Given the description of an element on the screen output the (x, y) to click on. 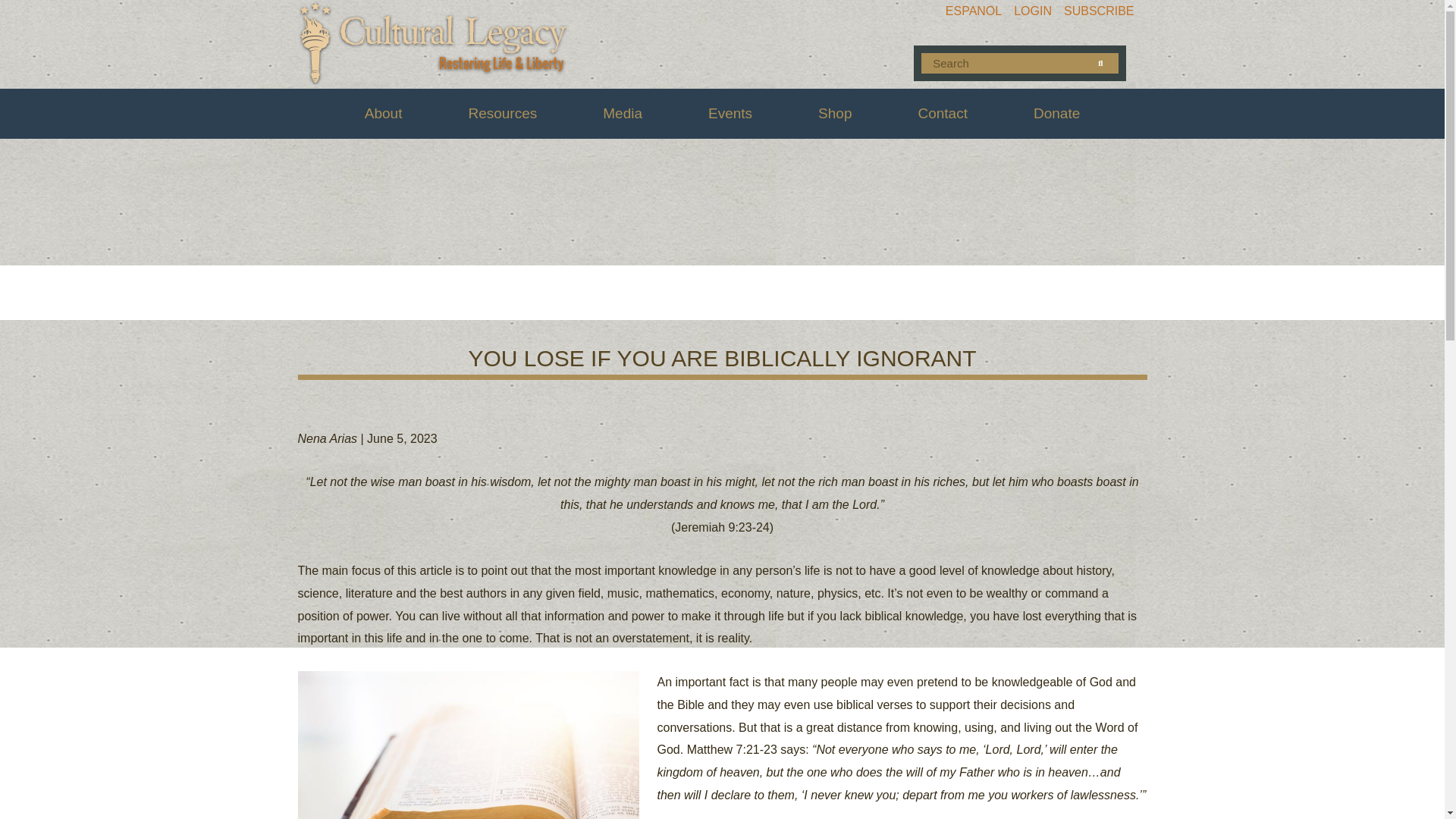
Search (1100, 63)
Media (622, 113)
Search (1002, 63)
Resources (501, 113)
SUBSCRIBE (1099, 11)
Search (1100, 63)
About (383, 113)
ESPANOL (972, 11)
LOGIN (1032, 11)
